Given the description of an element on the screen output the (x, y) to click on. 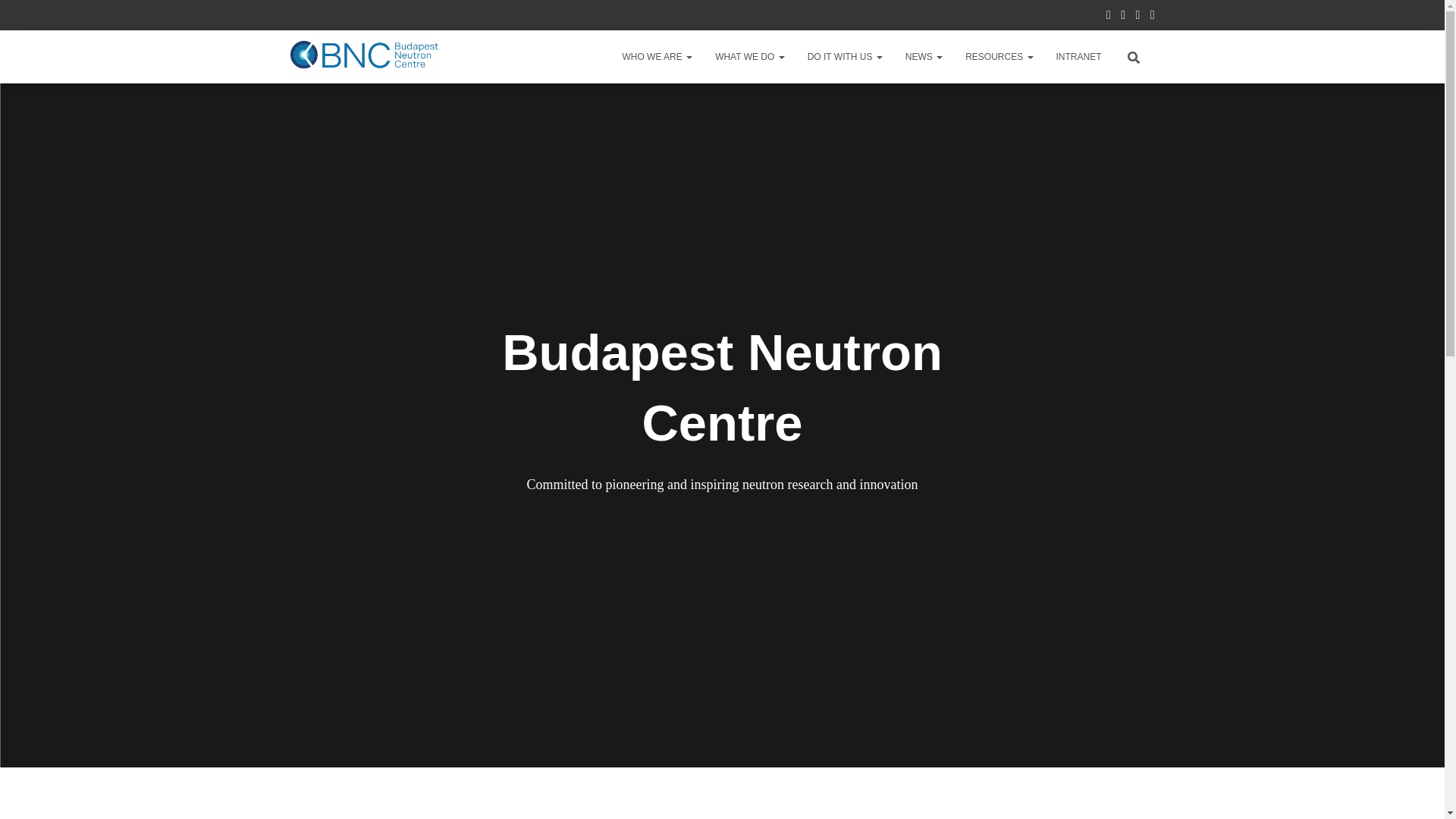
WHAT WE DO (749, 56)
Facebook (1108, 17)
Youtube (1152, 17)
Facebook (1108, 17)
X (1137, 17)
LinkedIn (1123, 17)
LinkedIn (1123, 17)
Youtube (1152, 17)
WHO WE ARE (656, 56)
Who we are (656, 56)
X (1137, 17)
Budapest Neutron Centre (364, 56)
